Given the description of an element on the screen output the (x, y) to click on. 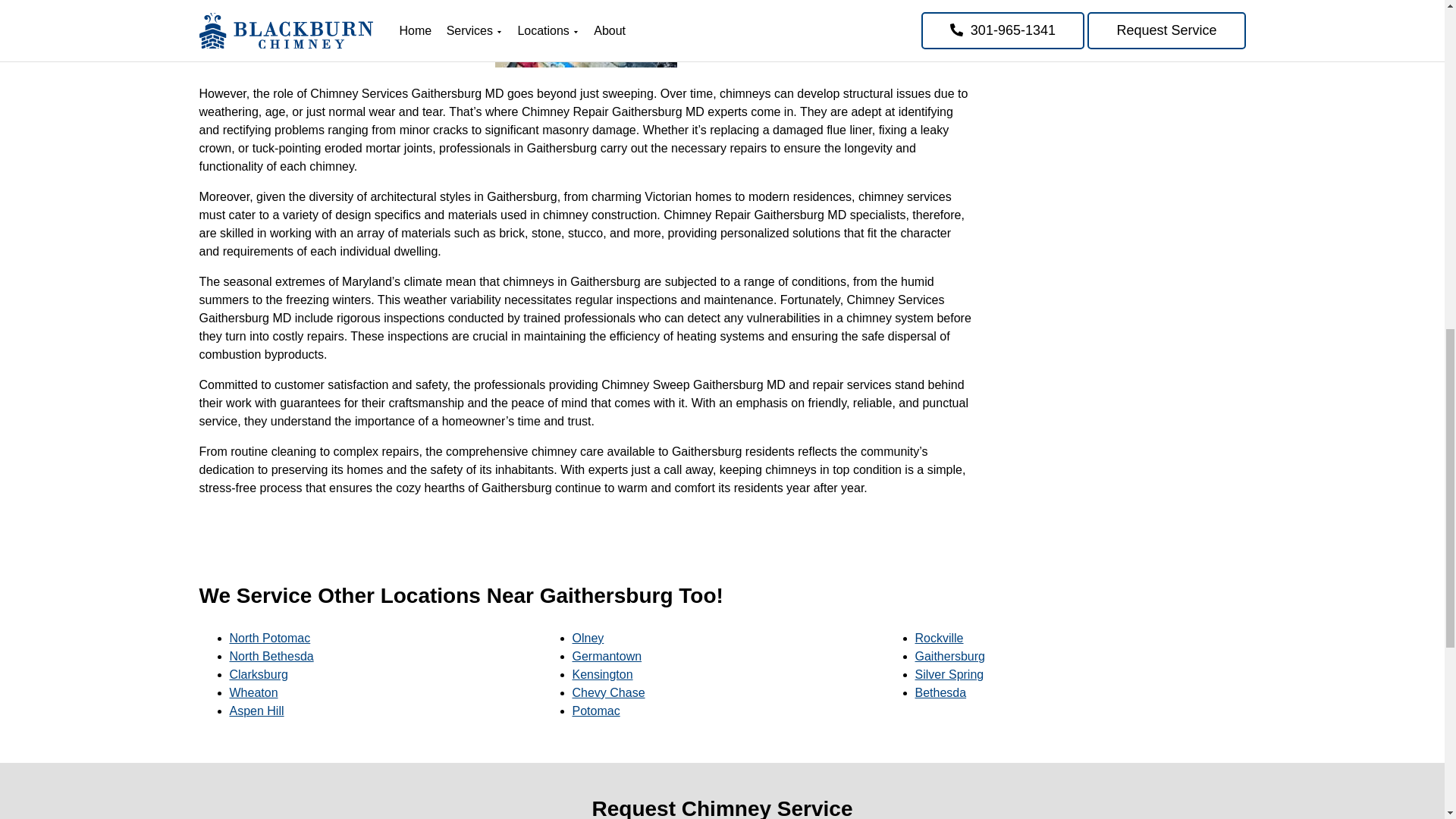
Chevy Chase (608, 692)
Germantown (607, 656)
North Potomac (269, 637)
Aspen Hill (255, 710)
Gaithersburg (949, 656)
Kensington (601, 674)
Clarksburg (257, 674)
Potomac (596, 710)
Rockville (938, 637)
North Bethesda (270, 656)
Wheaton (253, 692)
Silver Spring (949, 674)
Olney (588, 637)
